Given the description of an element on the screen output the (x, y) to click on. 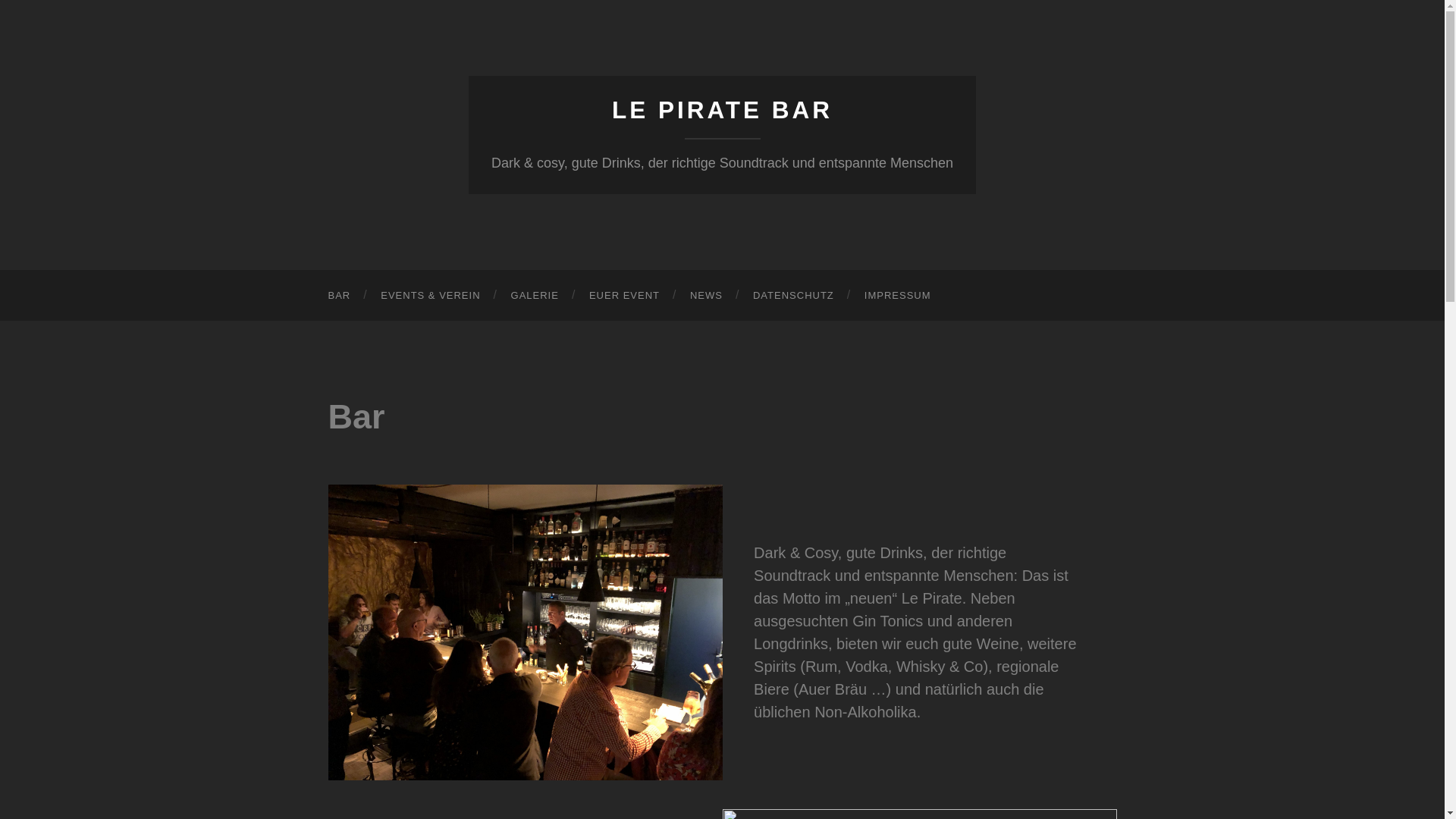
GALERIE Element type: text (534, 294)
BAR Element type: text (338, 294)
IMPRESSUM Element type: text (897, 294)
NEWS Element type: text (705, 294)
LE PIRATE BAR Element type: text (721, 109)
DATENSCHUTZ Element type: text (793, 294)
EUER EVENT Element type: text (624, 294)
EVENTS & VEREIN Element type: text (430, 294)
